Given the description of an element on the screen output the (x, y) to click on. 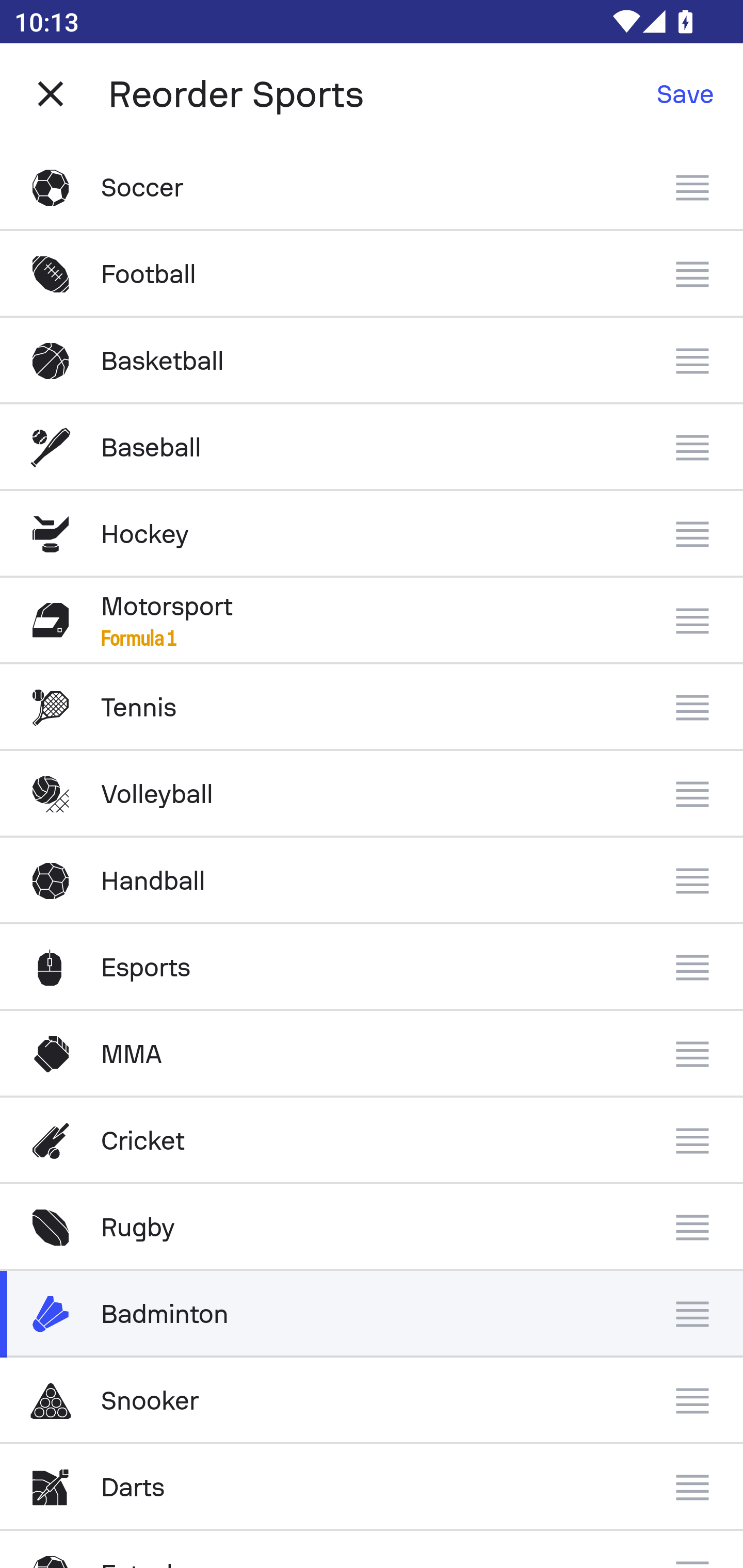
Save (684, 93)
Soccer (371, 187)
Football (371, 274)
Basketball (371, 361)
Baseball (371, 447)
Hockey (371, 533)
Motorsport Formula 1 (371, 620)
Tennis (371, 707)
Volleyball (371, 794)
Handball (371, 880)
Esports (371, 967)
MMA (371, 1054)
Cricket (371, 1140)
Rugby (371, 1227)
Badminton (371, 1314)
Snooker (371, 1400)
Darts (371, 1487)
